Given the description of an element on the screen output the (x, y) to click on. 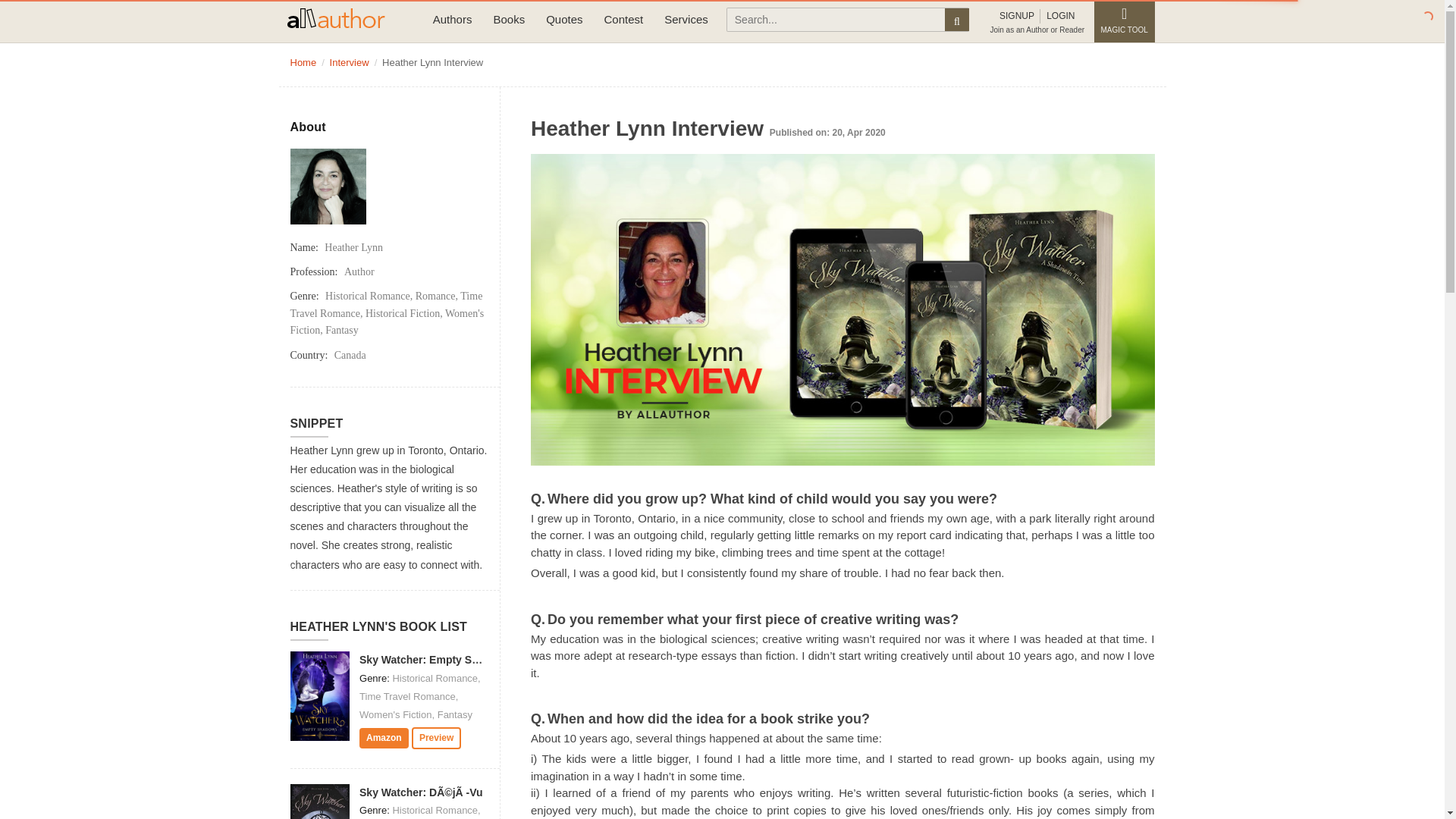
Contest (623, 19)
Books (508, 19)
Quotes (563, 19)
Authors (452, 19)
Services (686, 19)
